Given the description of an element on the screen output the (x, y) to click on. 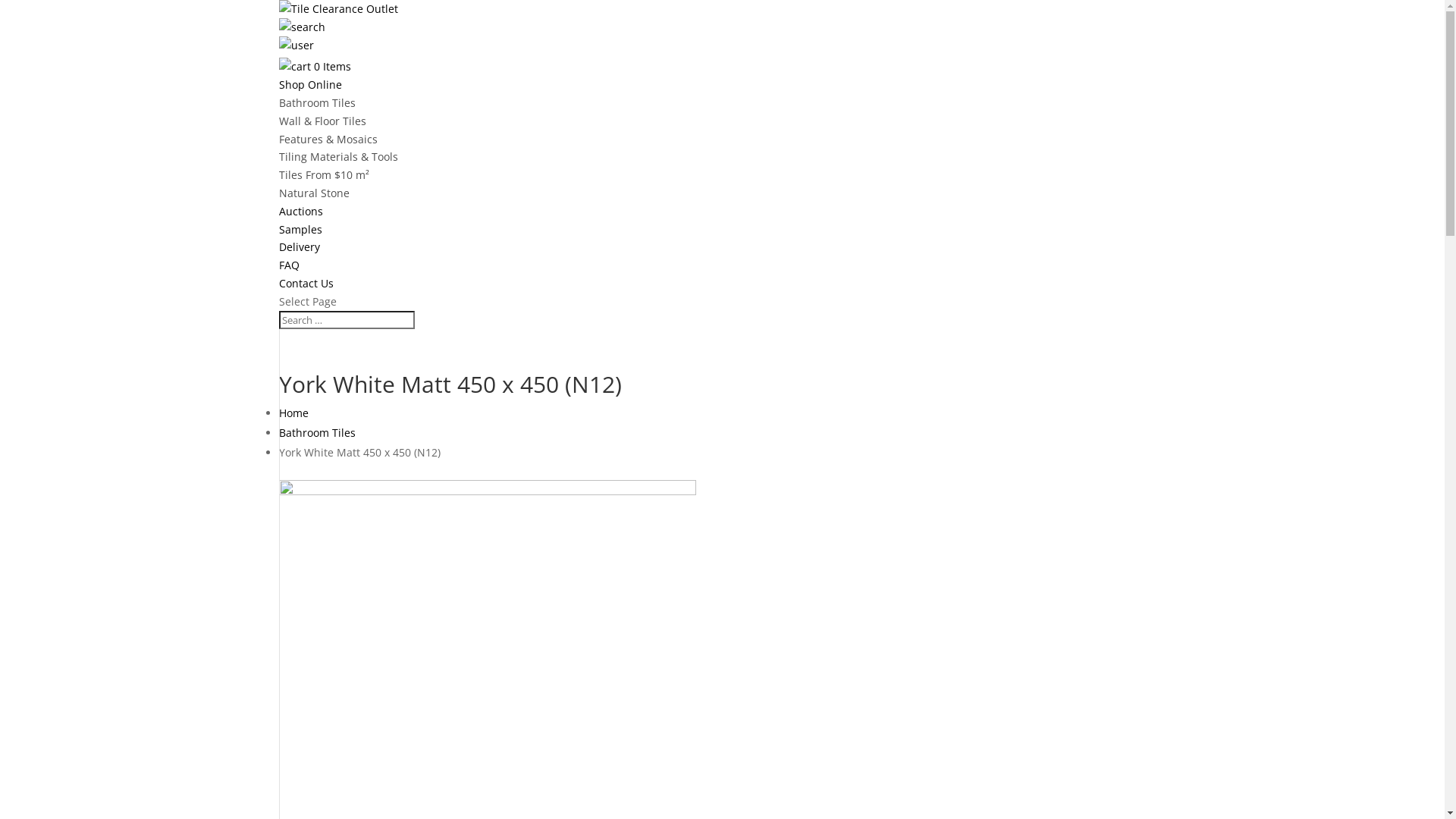
Search for: Element type: hover (346, 319)
FAQ Element type: text (289, 264)
Auctions Element type: text (301, 210)
Tiling Materials & Tools Element type: text (338, 156)
Features & Mosaics Element type: text (328, 138)
Bathroom Tiles Element type: text (317, 102)
Samples Element type: text (300, 229)
Bathroom Tiles Element type: text (317, 432)
Contact Us Element type: text (306, 283)
Shop Online Element type: text (310, 84)
Home Element type: text (293, 412)
Delivery Element type: text (299, 246)
Wall & Floor Tiles Element type: text (322, 120)
Natural Stone Element type: text (314, 192)
0 Items Element type: text (330, 66)
